Given the description of an element on the screen output the (x, y) to click on. 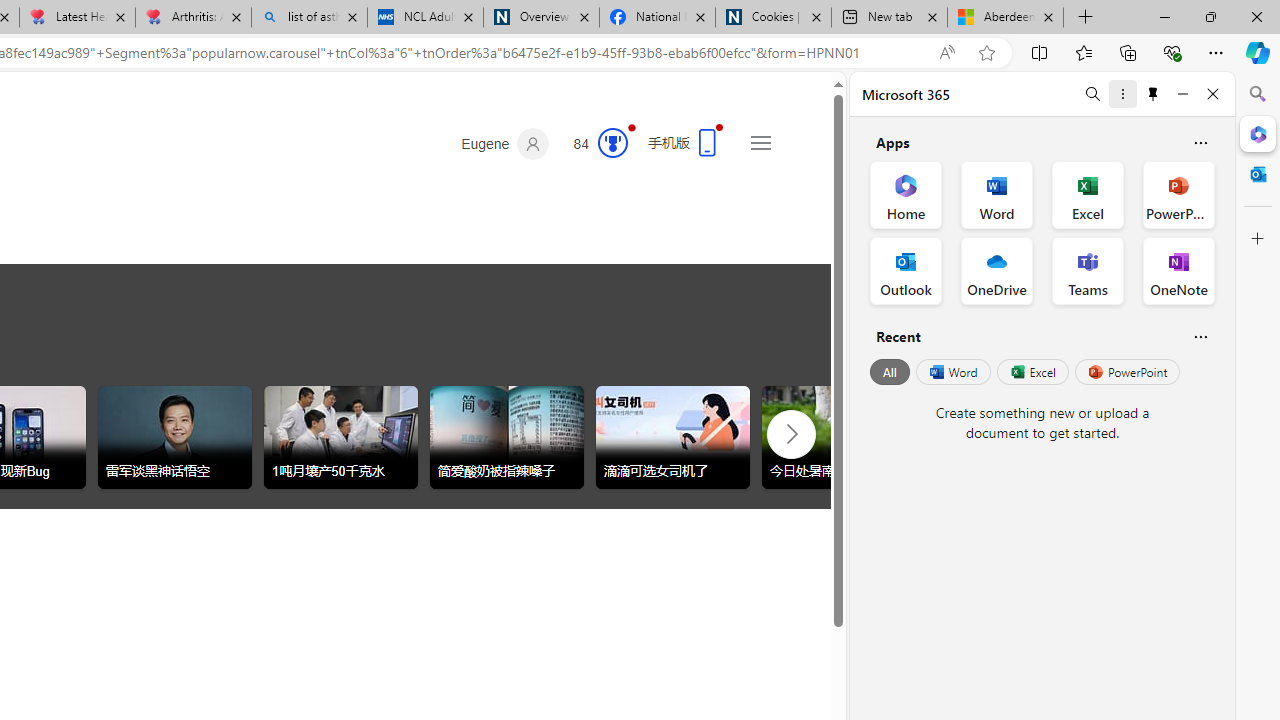
OneNote Office App (1178, 270)
AutomationID: rh_meter (612, 142)
Outlook Office App (906, 270)
All (890, 372)
Settings and quick links (760, 142)
PowerPoint Office App (1178, 194)
